Given the description of an element on the screen output the (x, y) to click on. 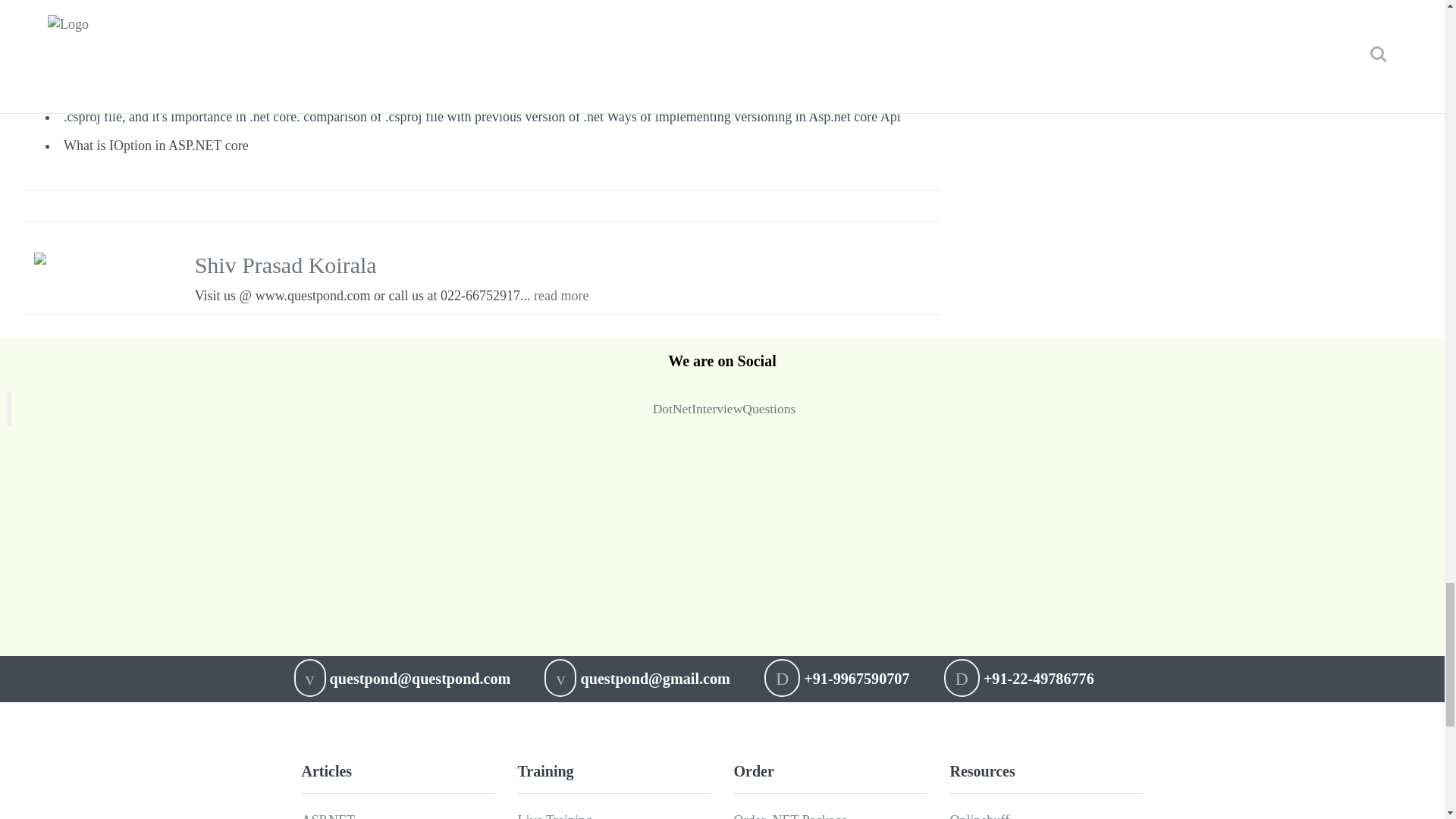
Onlinebuff (979, 816)
Order .NET Package (790, 816)
Shiv Prasad Koirala (286, 264)
DotNetInterviewQuestions (724, 408)
read more (561, 295)
Live Training (554, 816)
ASP.NET (328, 816)
